Given the description of an element on the screen output the (x, y) to click on. 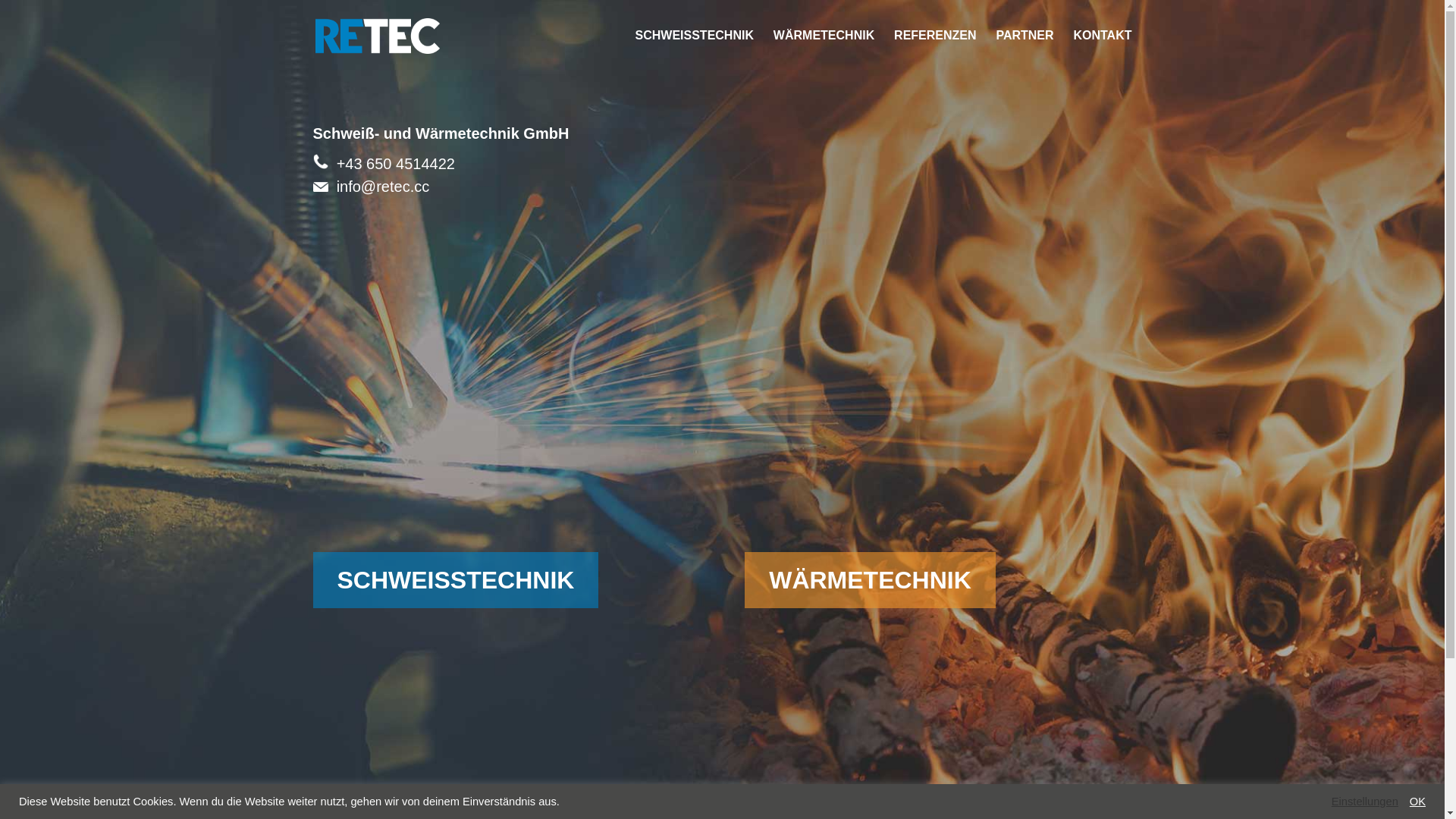
info@retec.cc Element type: text (382, 186)
+43 650 4514422 Element type: text (395, 163)
OK Element type: text (1417, 801)
REFERENZEN Element type: text (934, 50)
SCHWEISSTECHNIK Element type: text (694, 50)
SCHWEISSTECHNIK Element type: text (455, 580)
Einstellungen Element type: text (1364, 801)
PARTNER Element type: text (1024, 50)
KONTAKT Element type: text (1102, 50)
